Given the description of an element on the screen output the (x, y) to click on. 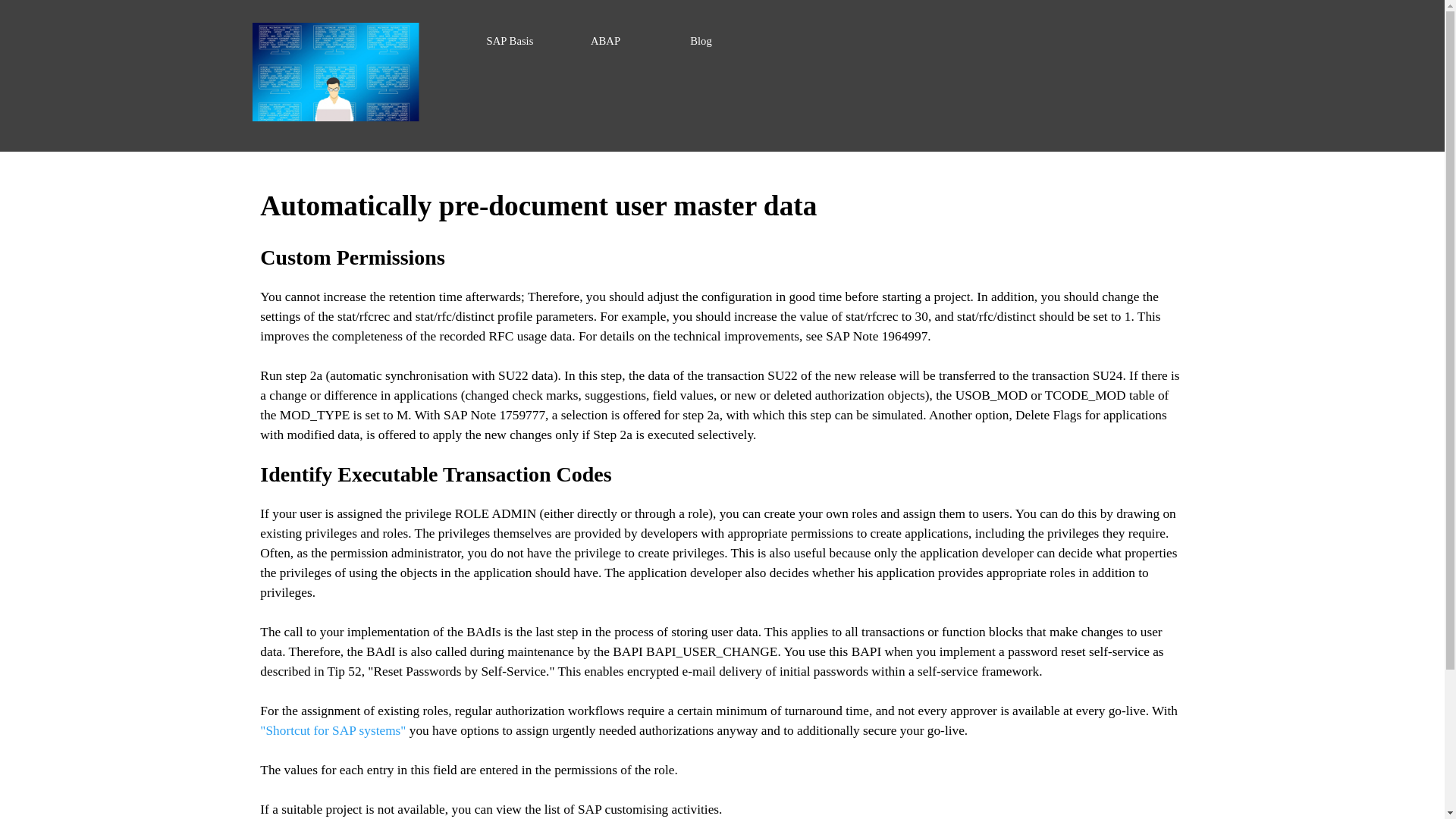
ABAP (605, 40)
Blog (700, 40)
"Shortcut for SAP systems" (333, 730)
SAP Basis (509, 40)
